Given the description of an element on the screen output the (x, y) to click on. 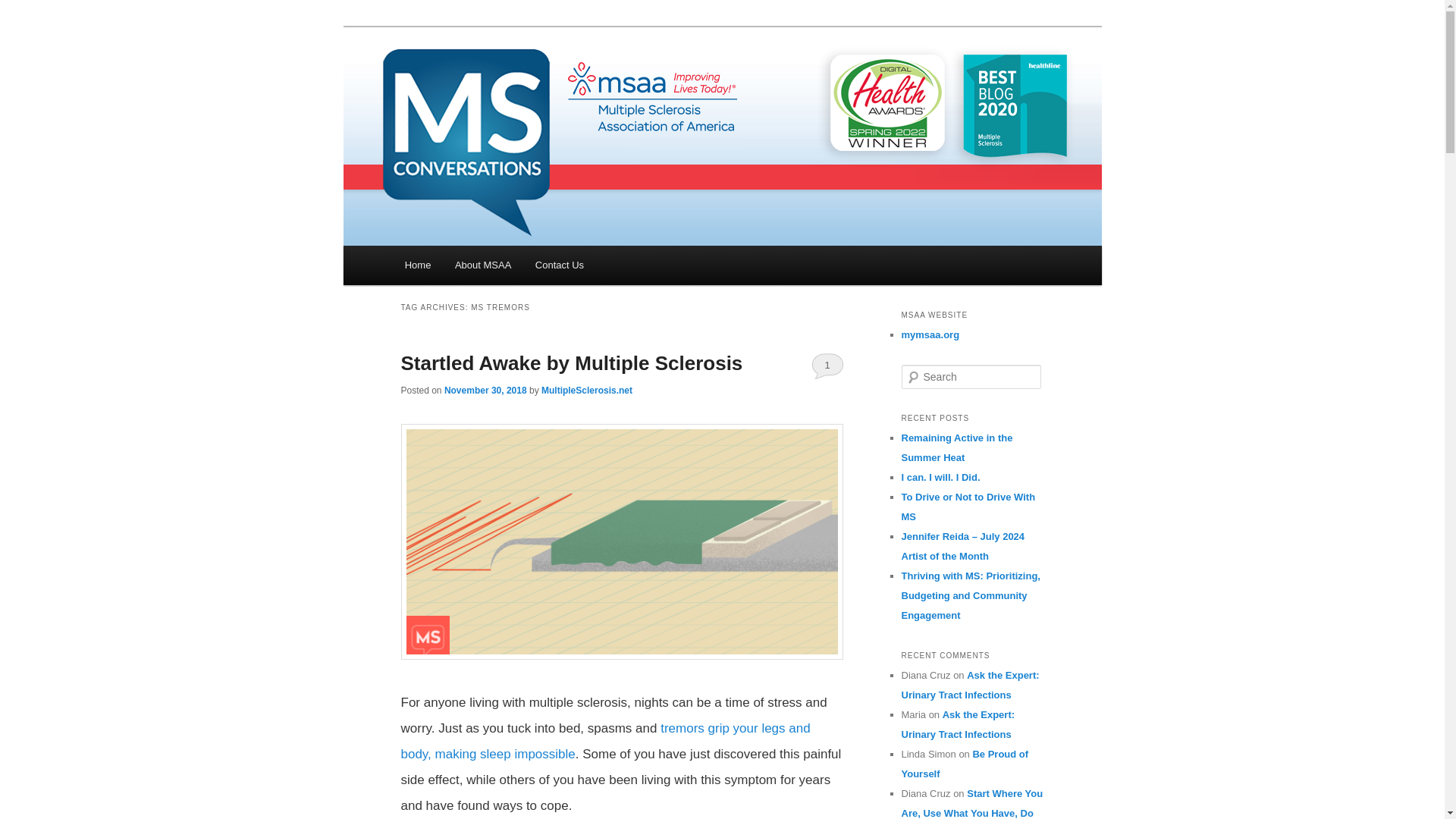
9:00 am (485, 389)
MultipleSclerosis.net (586, 389)
Contact Us (558, 265)
Startled Awake by Multiple Sclerosis (571, 363)
Skip to primary content (481, 271)
tremors grip your legs and body, making sleep impossible (604, 741)
Home (417, 265)
Skip to secondary content (489, 271)
View all posts by MultipleSclerosis.net (586, 389)
November 30, 2018 (485, 389)
About MSAA (482, 265)
1 (827, 365)
